Given the description of an element on the screen output the (x, y) to click on. 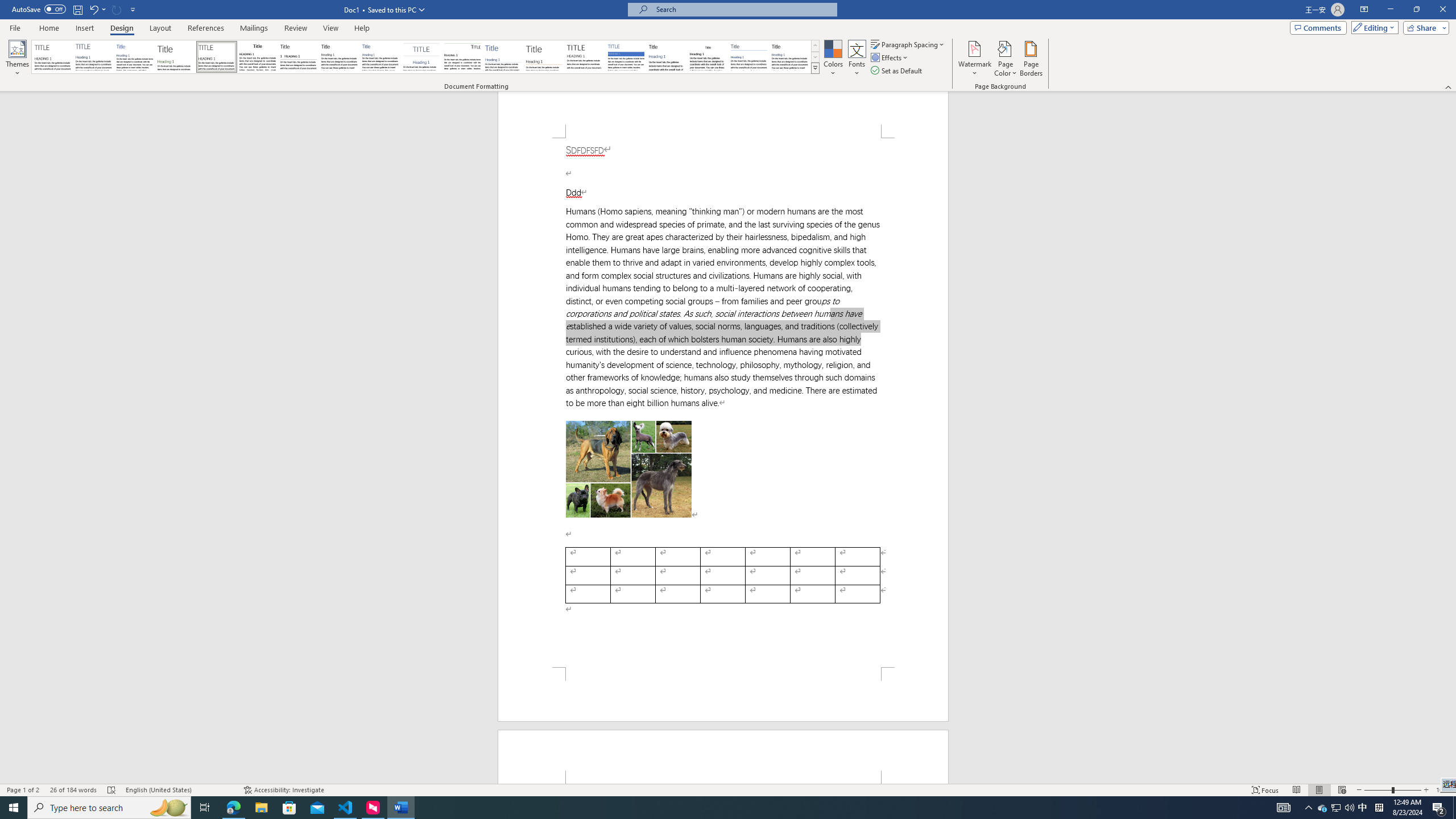
Spelling and Grammar Check Errors (111, 790)
Casual (379, 56)
Page Borders... (1031, 58)
Page Number Page 1 of 2 (22, 790)
Basic (Elegant) (93, 56)
Shaded (625, 56)
Language English (United States) (178, 790)
Minimalist (584, 56)
